Given the description of an element on the screen output the (x, y) to click on. 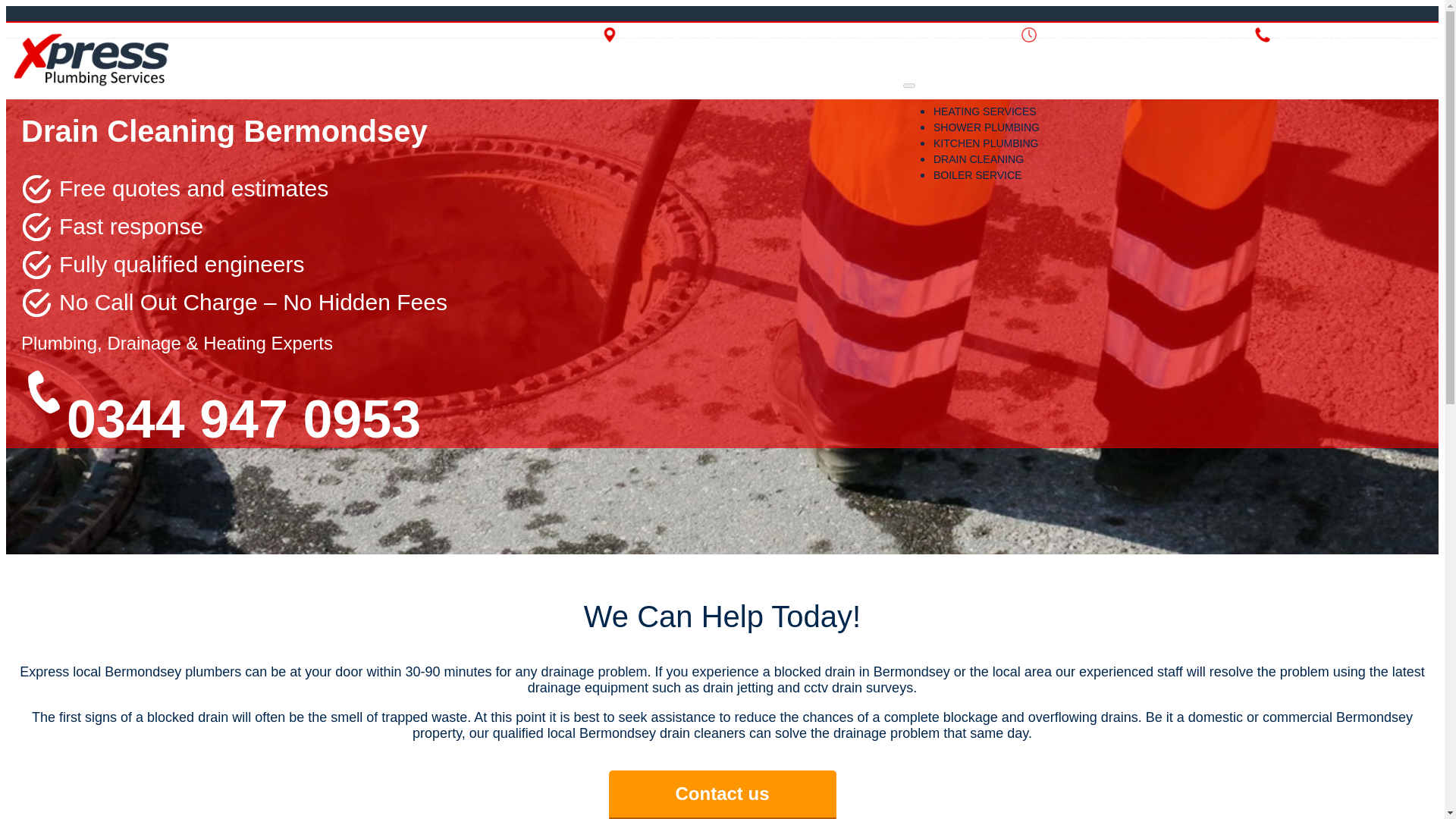
Shower Plumbing (986, 127)
Toggle navigation (908, 85)
Drain Cleaning (978, 159)
SHOWER PLUMBING (986, 127)
0344 947 0953 (1385, 34)
HEATING SERVICES (984, 111)
BOILER SERVICE (977, 174)
0344 947 0953 (243, 418)
DRAIN CLEANING (978, 159)
KITCHEN PLUMBING (985, 143)
Kitchen Plumbing (985, 143)
Heating Services (984, 111)
Boiler Service (977, 174)
Contact us (721, 795)
